Given the description of an element on the screen output the (x, y) to click on. 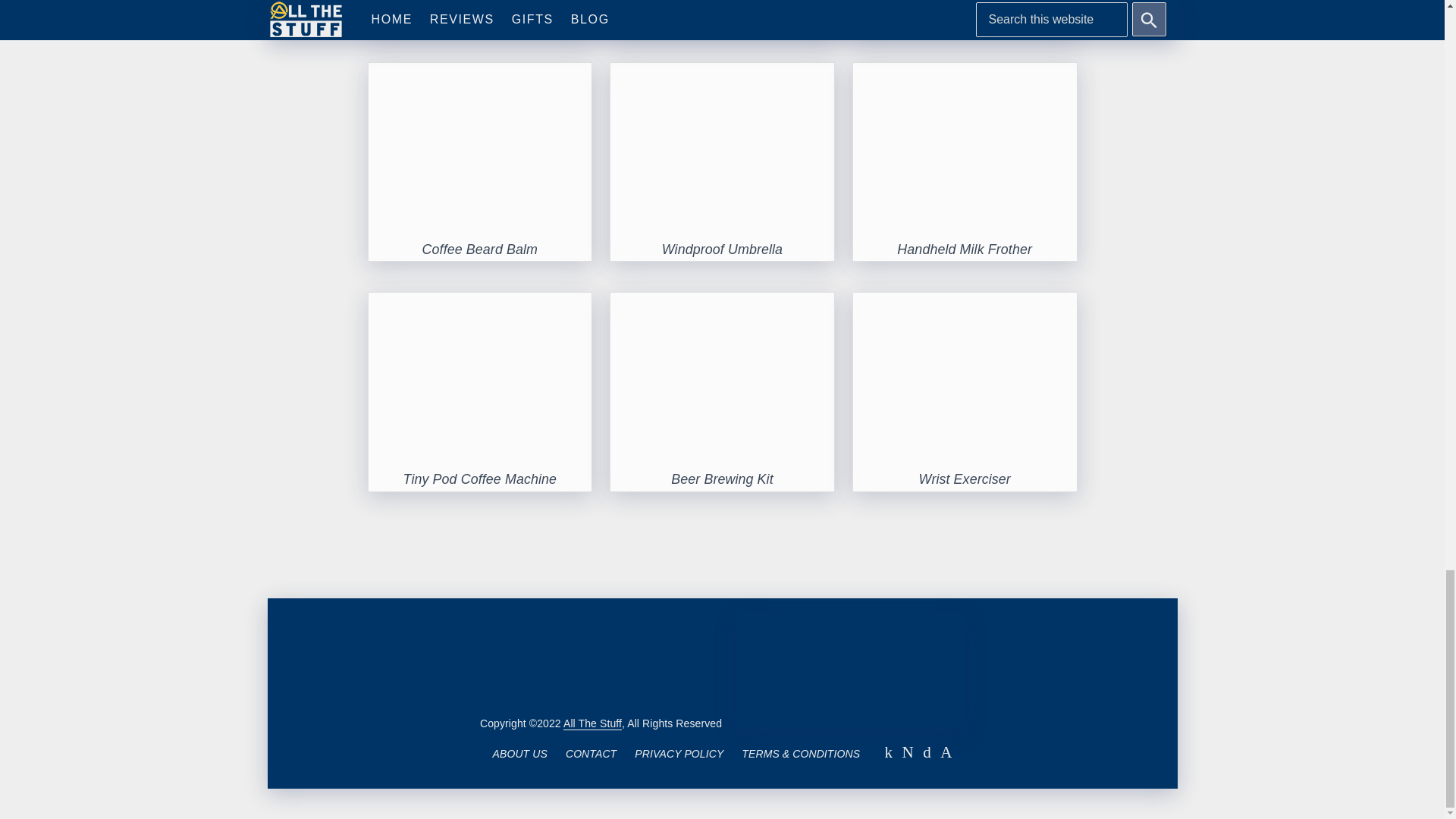
Permanent Link to Coffee Beard Balm (479, 249)
Permanent Link to Wrist Exerciser (965, 304)
Permanent Link to Storage Rack (479, 18)
Permanent Link to Beer Brewing Kit (722, 304)
Permanent Link to Beer Brewing Kit (722, 478)
Permanent Link to Handheld Milk Frother (964, 249)
Permanent Link to Cold-Brew Coffee Maker (722, 18)
Permanent Link to Windproof Umbrella (722, 249)
Permanent Link to Spilled Coffee Prank (964, 18)
Permanent Link to Tiny Pod Coffee Machine (480, 478)
